Given the description of an element on the screen output the (x, y) to click on. 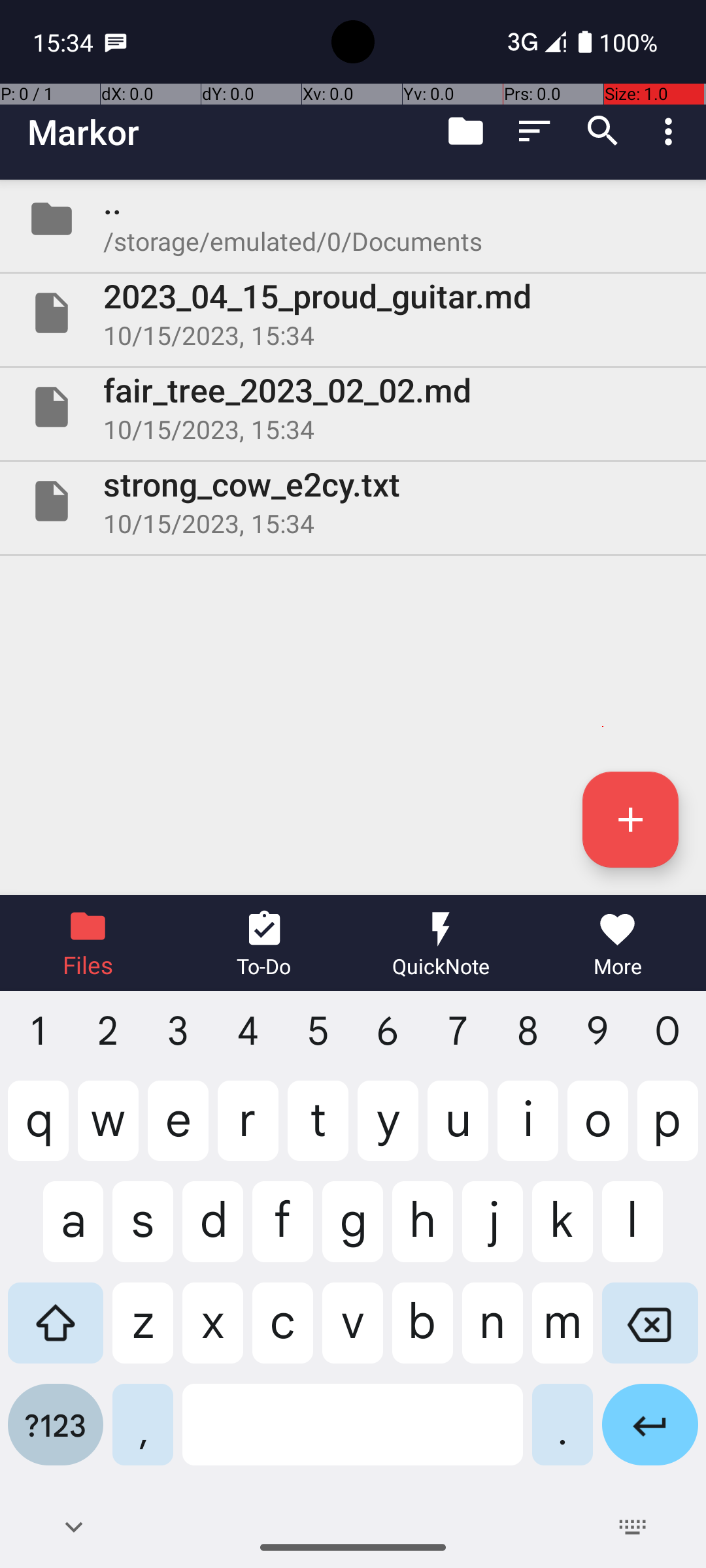
File 2023_04_15_proud_guitar.md  Element type: android.widget.LinearLayout (353, 312)
File fair_tree_2023_02_02.md  Element type: android.widget.LinearLayout (353, 406)
File strong_cow_e2cy.txt  Element type: android.widget.LinearLayout (353, 500)
